Given the description of an element on the screen output the (x, y) to click on. 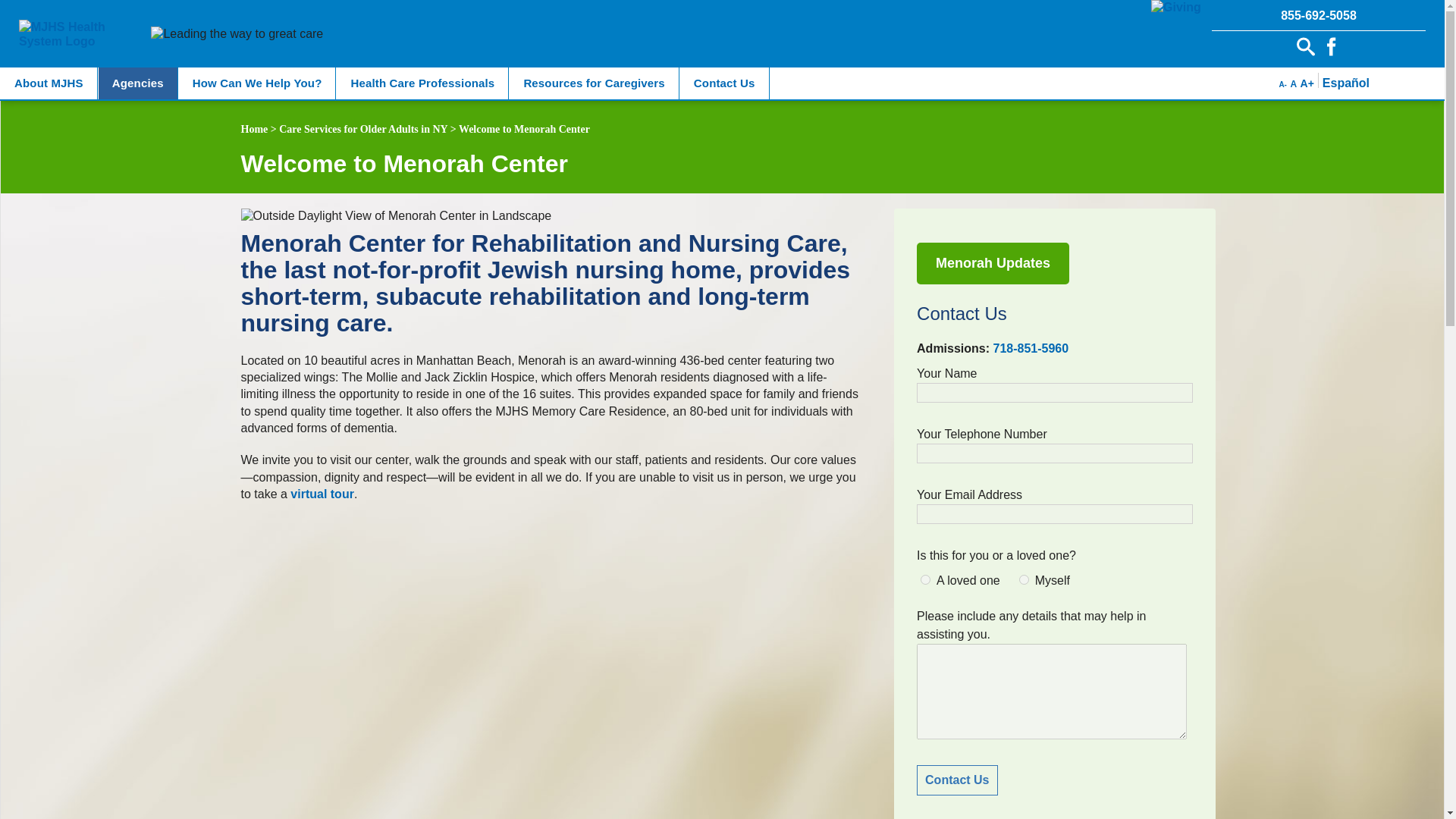
Contact Us (957, 779)
Resources for Caregivers (593, 83)
About MJHS (49, 83)
Agencies (138, 83)
me (1024, 579)
How Can We Help You? (257, 83)
Leadingthewaytogreatcare (237, 33)
855-692-5058 (1318, 15)
Agencies (138, 83)
About MJHS (49, 83)
Health Care Professionals (422, 83)
them (925, 579)
giving (1176, 7)
